Given the description of an element on the screen output the (x, y) to click on. 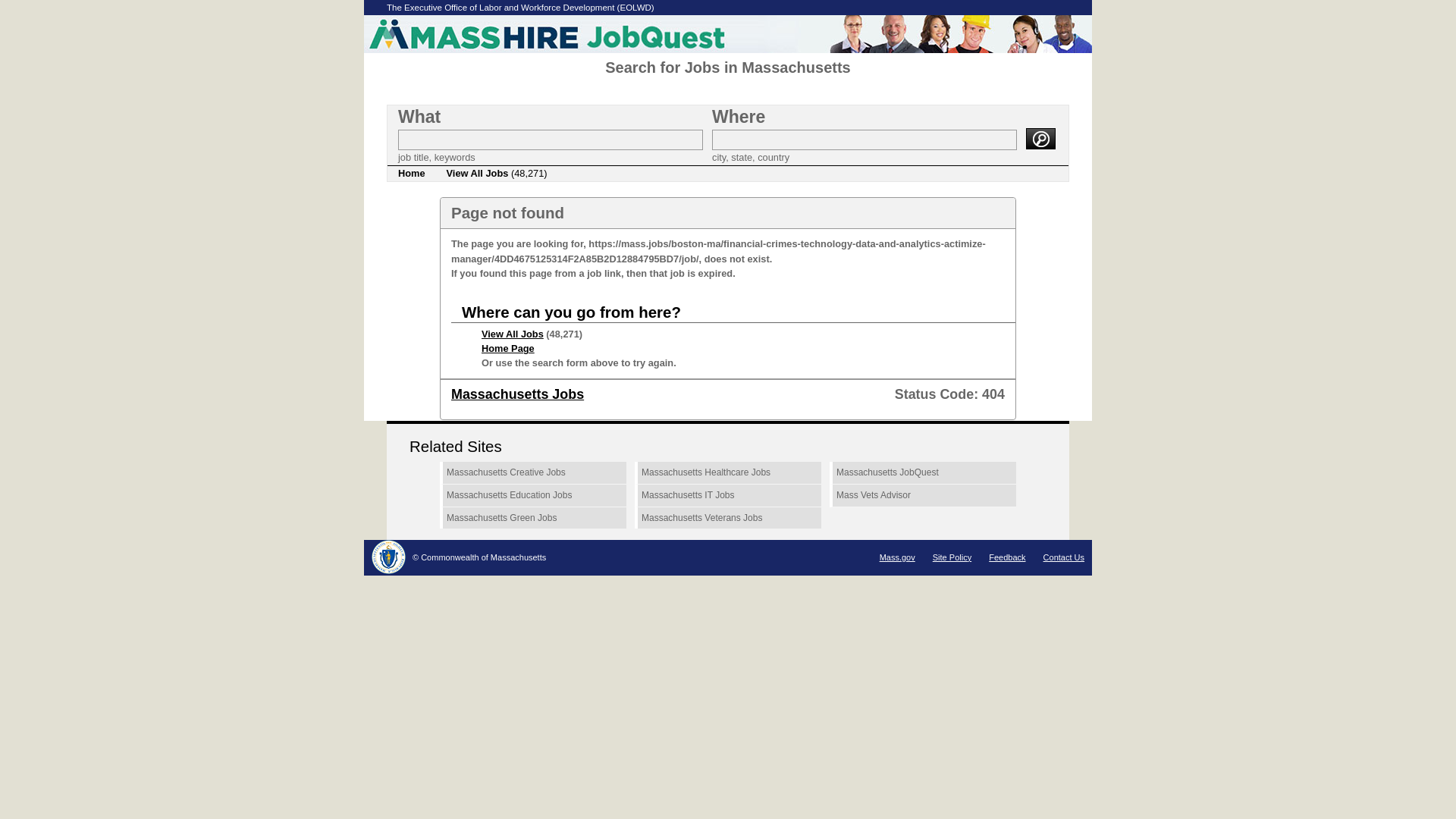
Mass Vets Advisor (922, 495)
Home (411, 173)
Search Location (863, 139)
Site Policy (952, 556)
Home Page (507, 348)
Massachusetts Green Jobs (532, 517)
Massachusetts Veterans Jobs (727, 517)
Massachusetts Healthcare Jobs (727, 472)
Mass.gov (897, 556)
search (1040, 138)
